Given the description of an element on the screen output the (x, y) to click on. 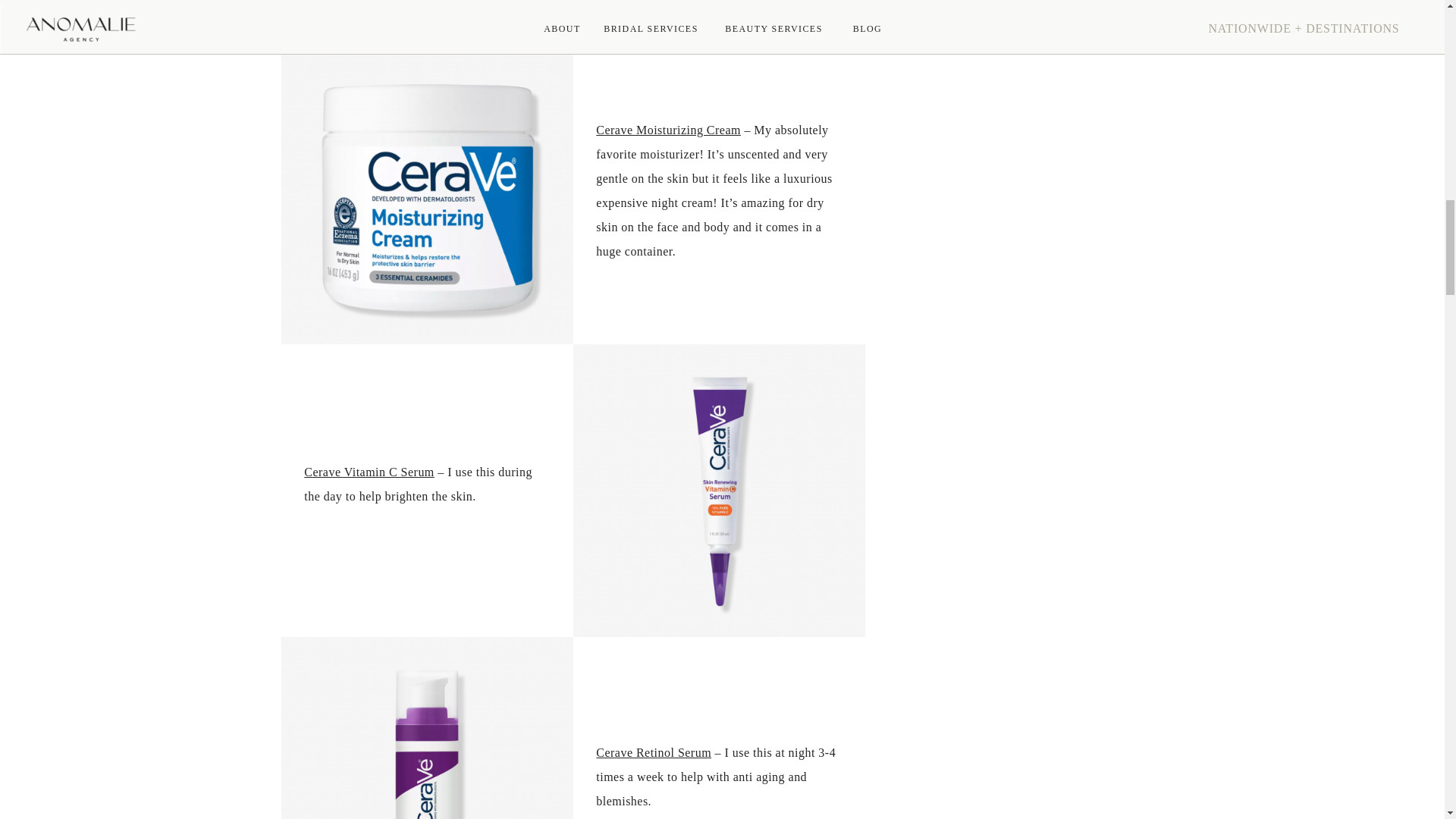
Cerave Retinol Serum (653, 752)
Cerave Vitamin C Serum (368, 472)
Cerave Moisturizing Cream (668, 129)
